Given the description of an element on the screen output the (x, y) to click on. 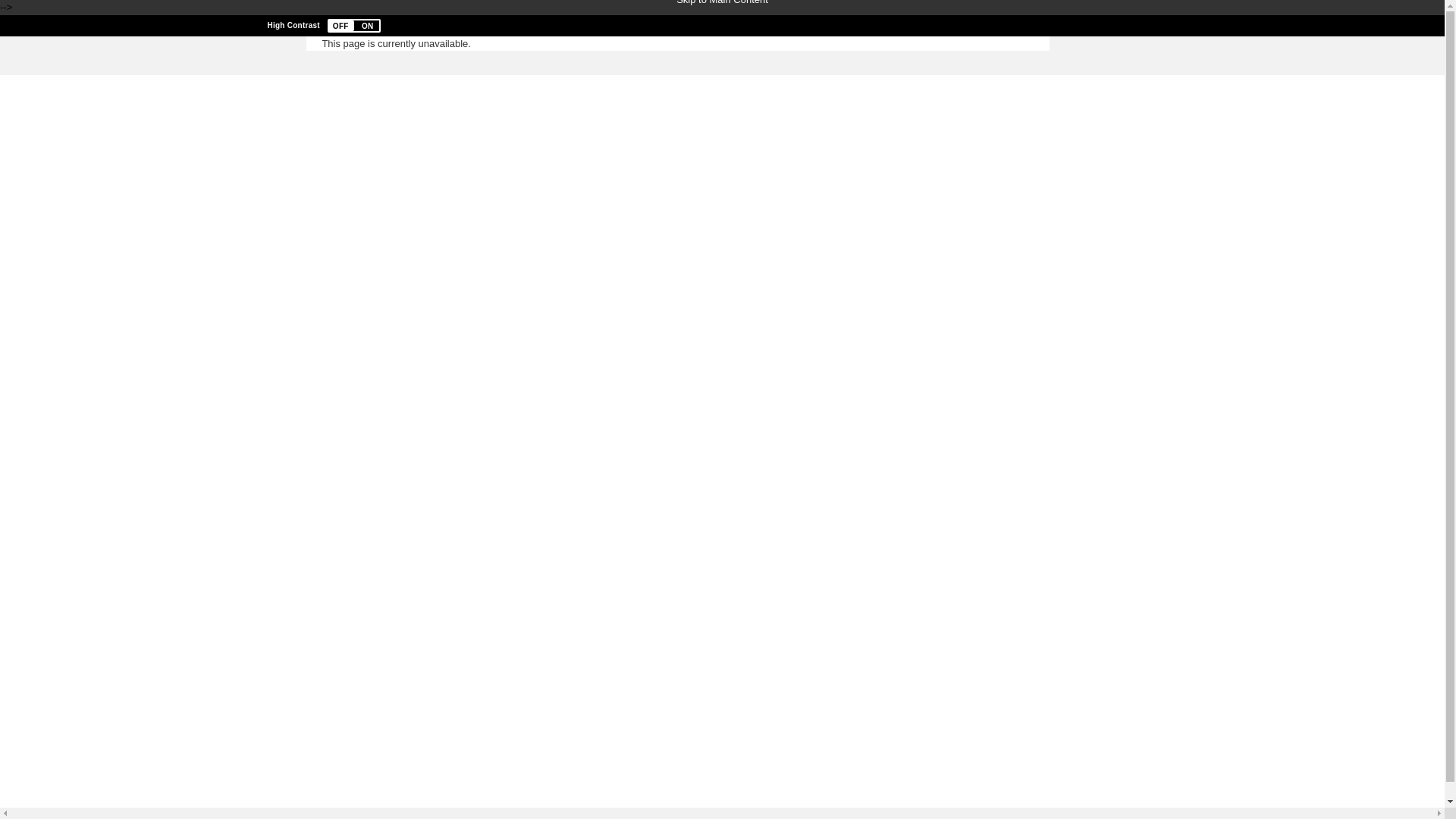
Skip to Main Content (722, 3)
